Given the description of an element on the screen output the (x, y) to click on. 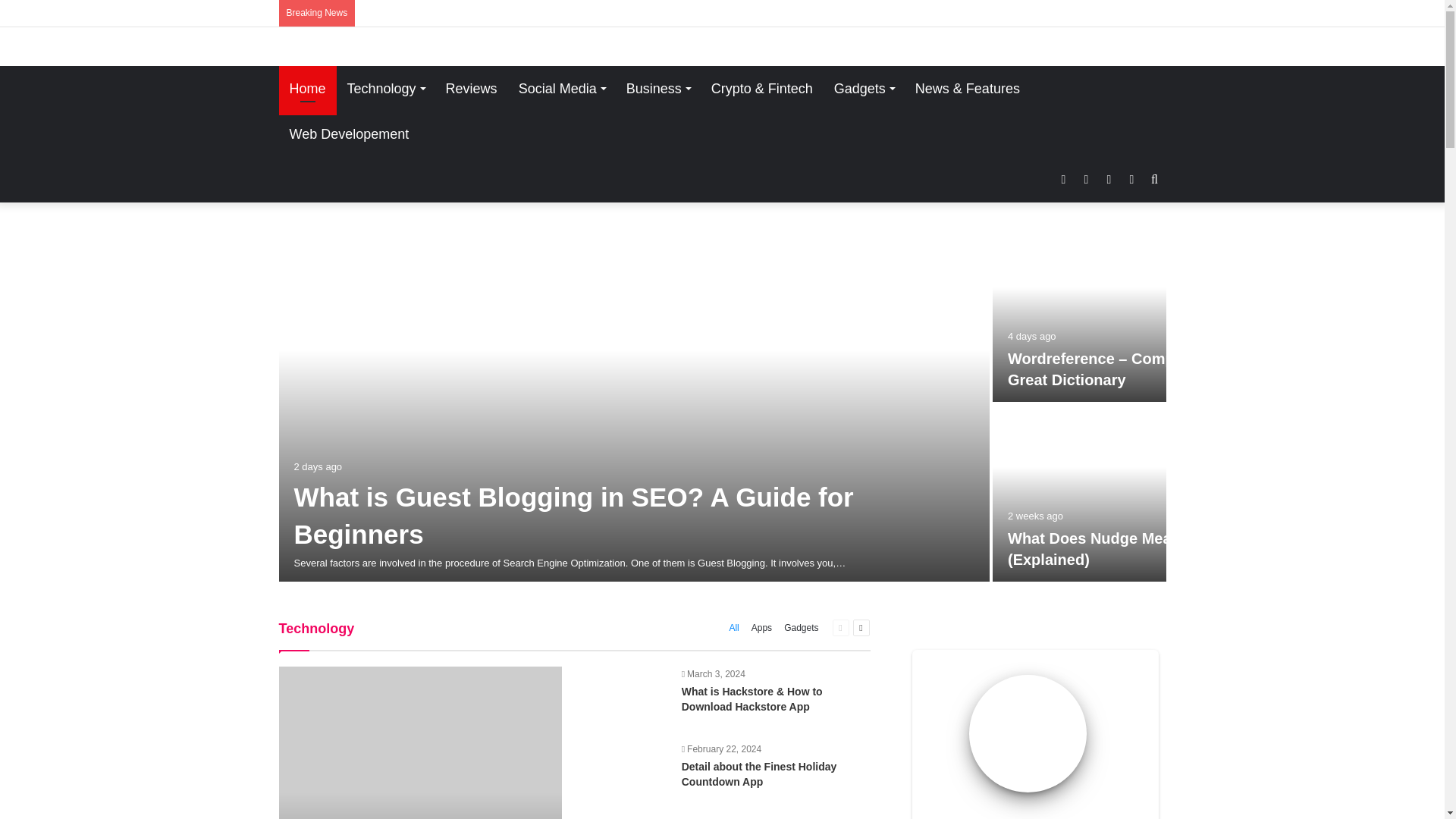
Social Media (561, 88)
Technology (385, 88)
Business (657, 88)
Home (307, 88)
Web Developement (349, 134)
Reviews (471, 88)
Gadgets (864, 88)
